Given the description of an element on the screen output the (x, y) to click on. 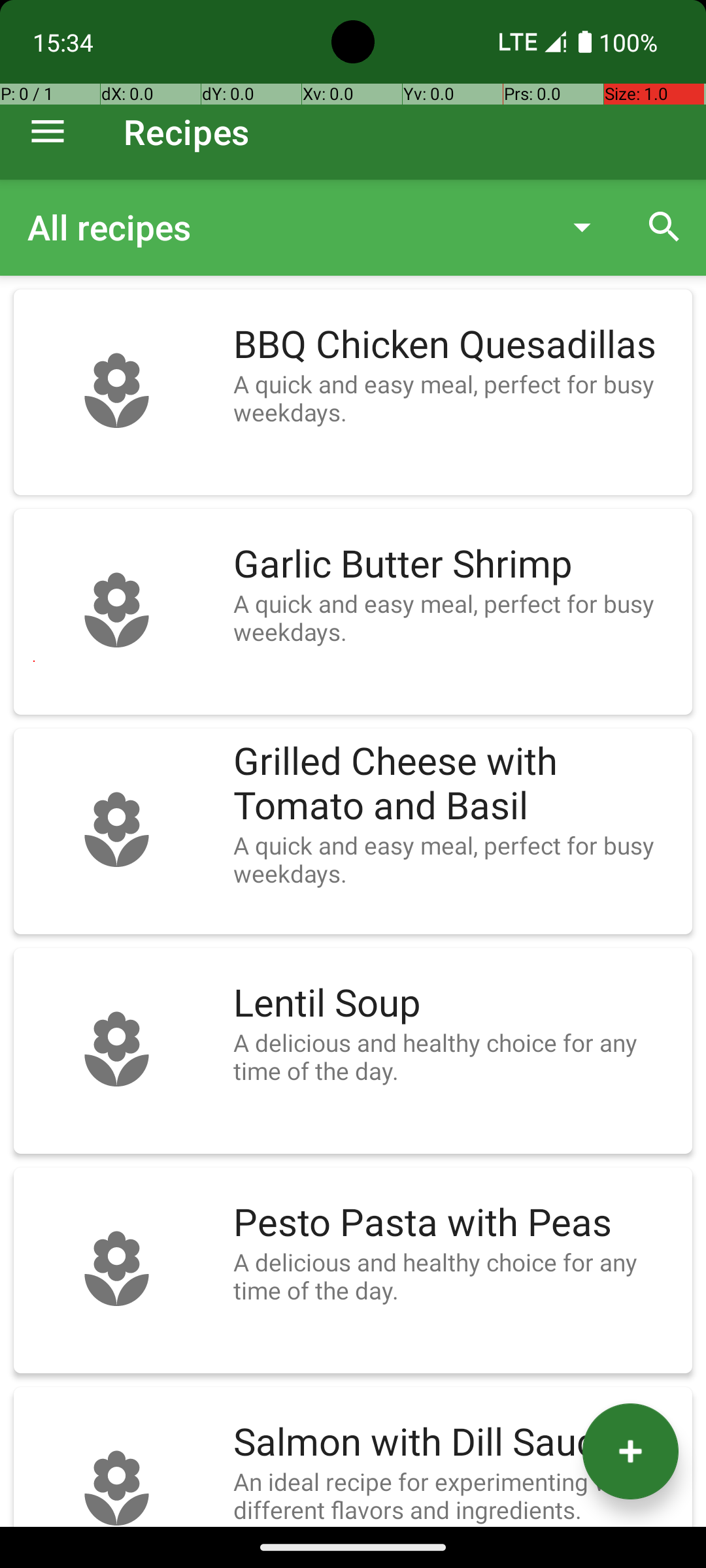
Salmon with Dill Sauce Element type: android.widget.TextView (455, 1442)
